Given the description of an element on the screen output the (x, y) to click on. 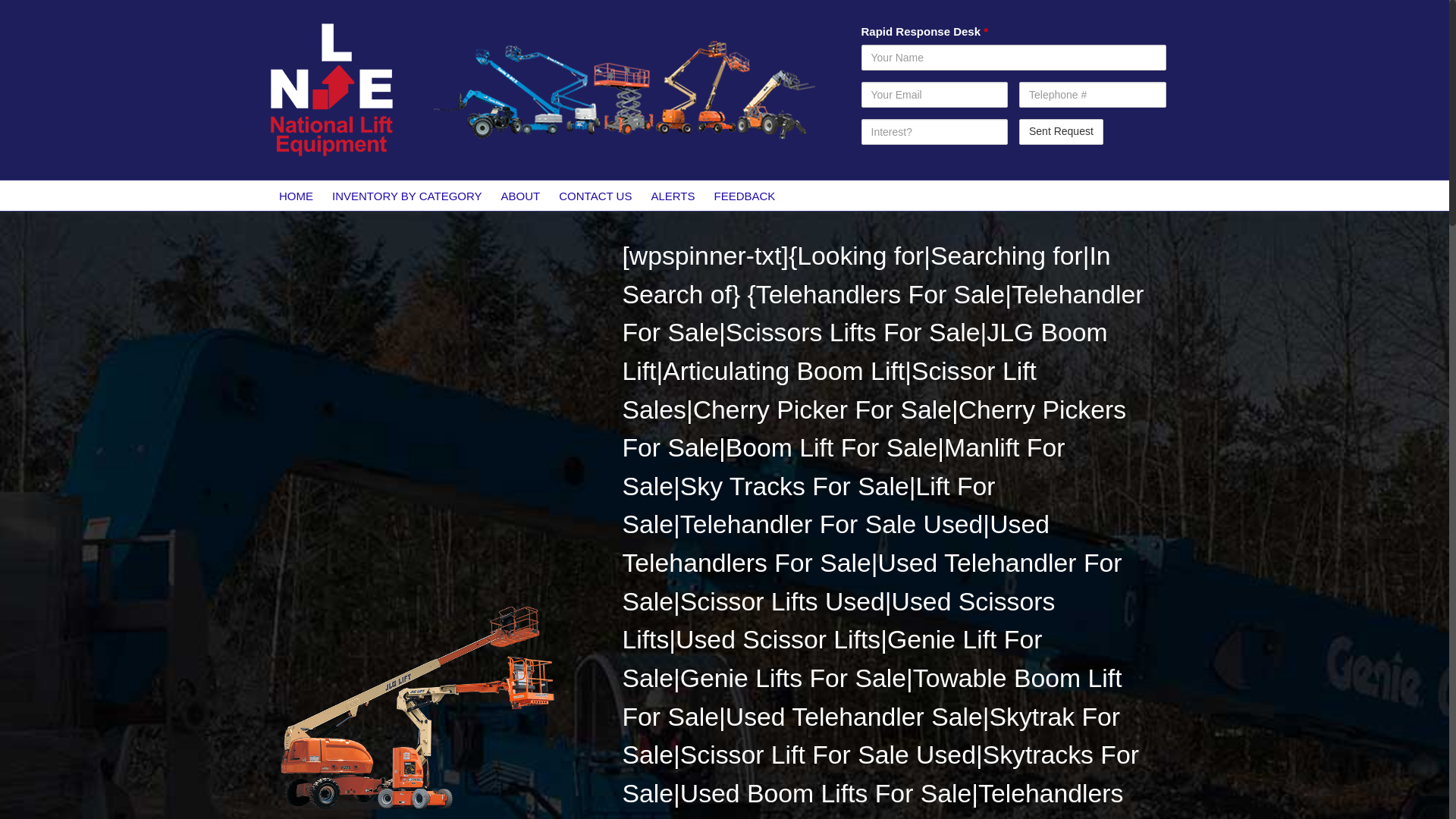
INVENTORY BY CATEGORY (407, 195)
Used Construction Equipment For Sale in Pennsylvania (414, 707)
HOME (296, 195)
FEEDBACK (744, 195)
Sent Request (1061, 131)
Sent Request (1061, 131)
CONTACT US (596, 195)
ALERTS (673, 195)
ABOUT (521, 195)
